Given the description of an element on the screen output the (x, y) to click on. 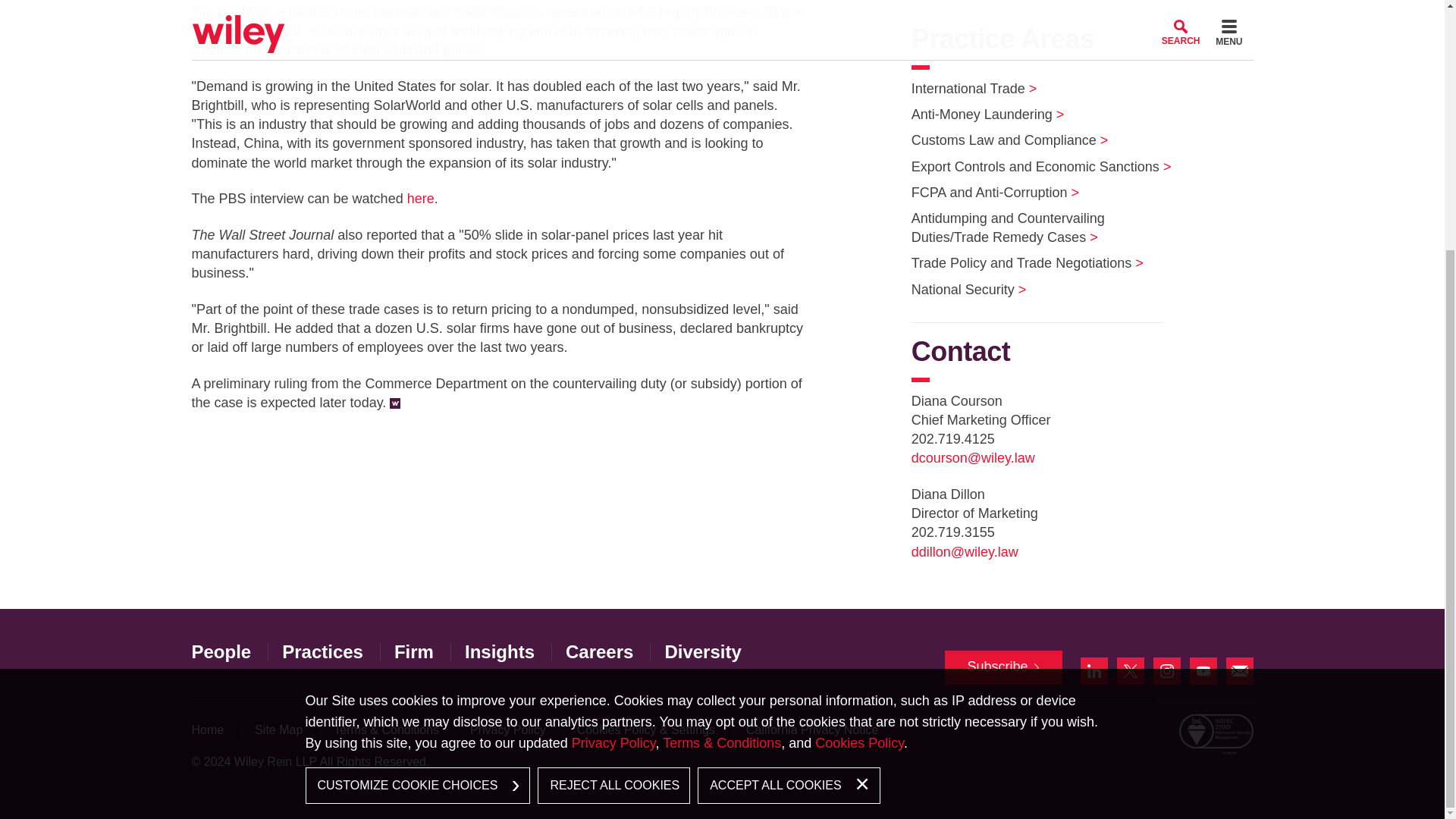
Contact Us (1238, 670)
